Given the description of an element on the screen output the (x, y) to click on. 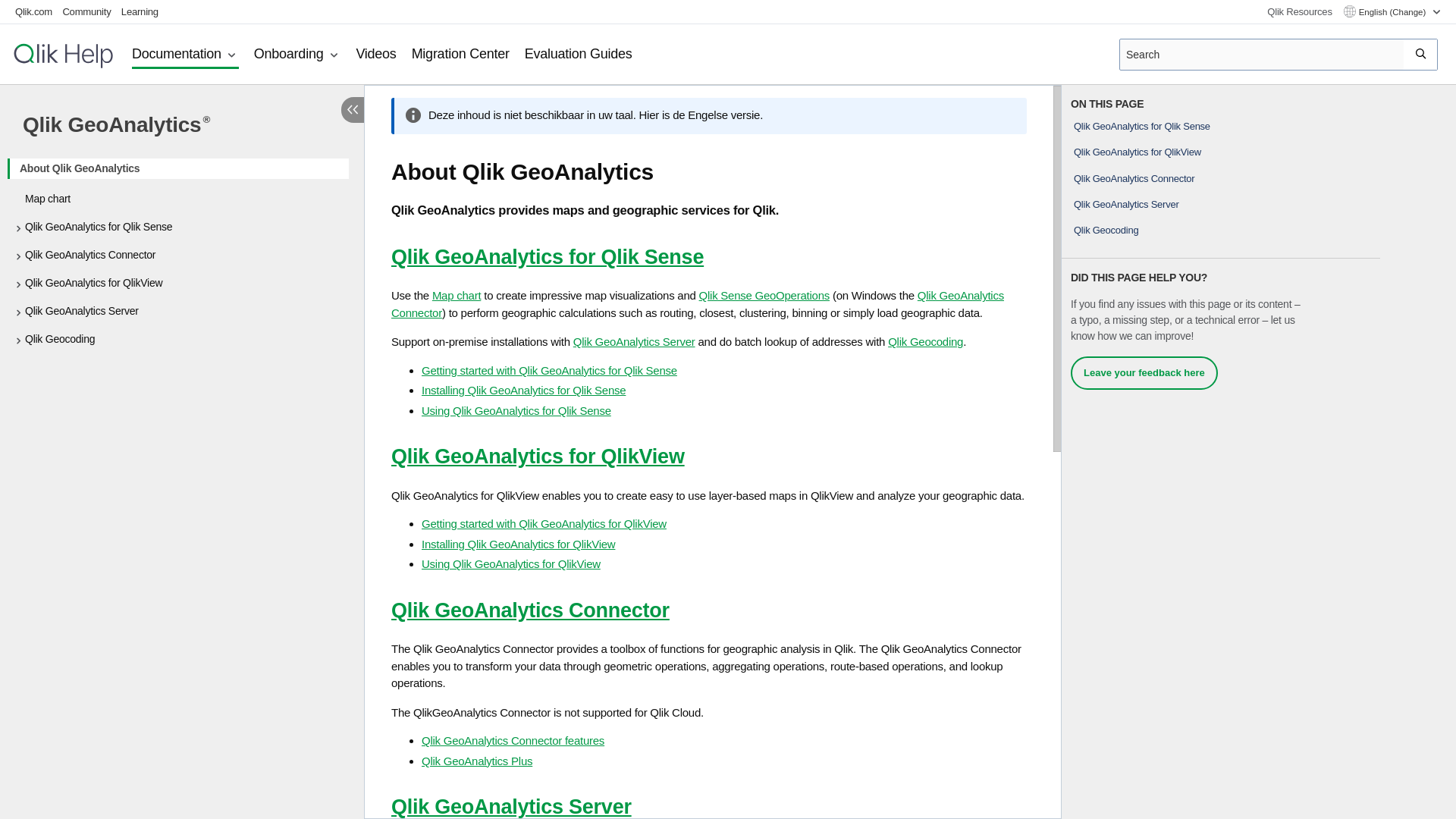
Community (86, 11)
Qlik.com (33, 11)
Learning (139, 11)
Qlik Resources (1299, 11)
Documentation (185, 54)
Search (1421, 54)
